Given the description of an element on the screen output the (x, y) to click on. 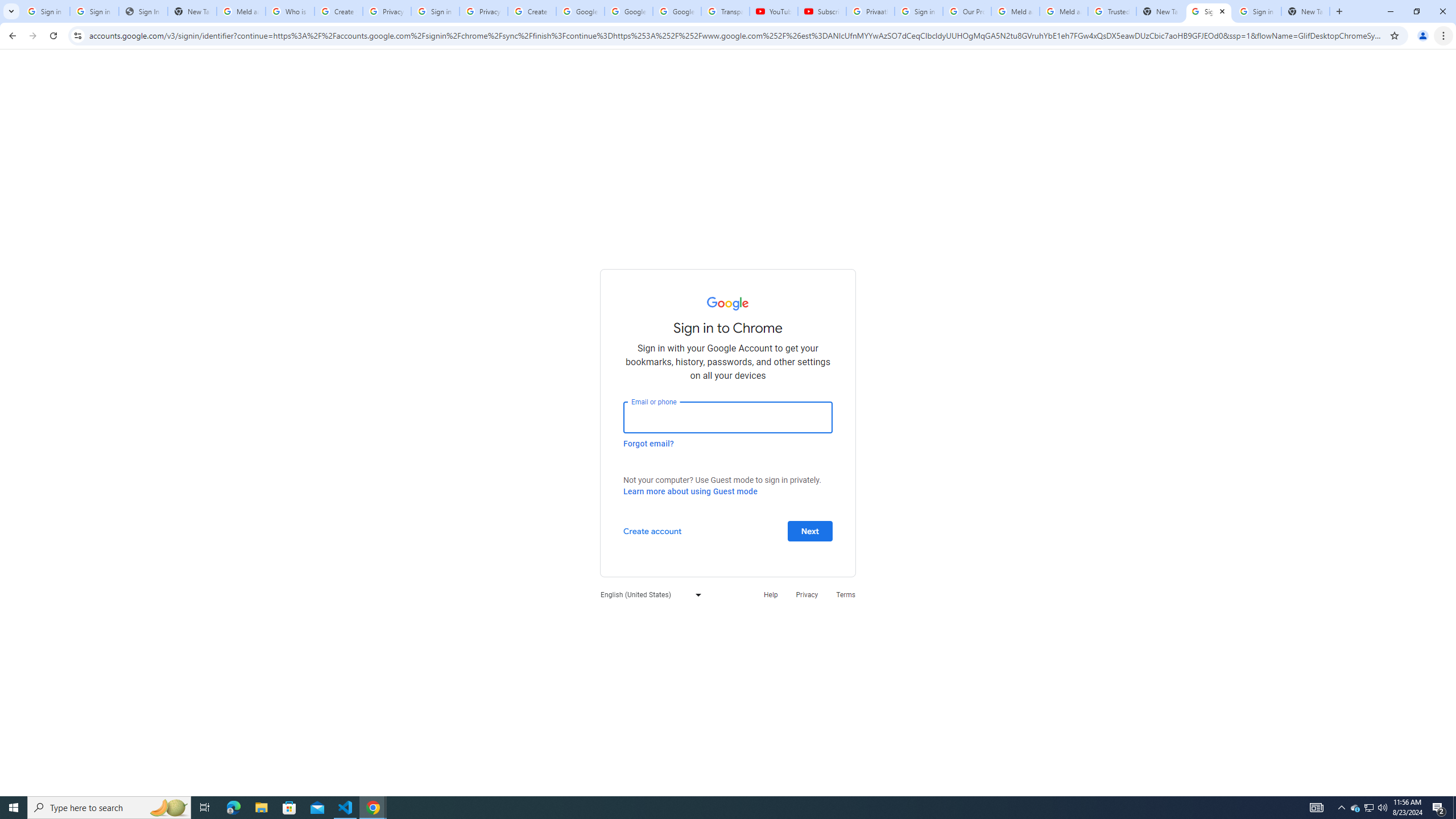
Sign in - Google Accounts (1257, 11)
Trusted Information and Content - Google Safety Center (1112, 11)
